Given the description of an element on the screen output the (x, y) to click on. 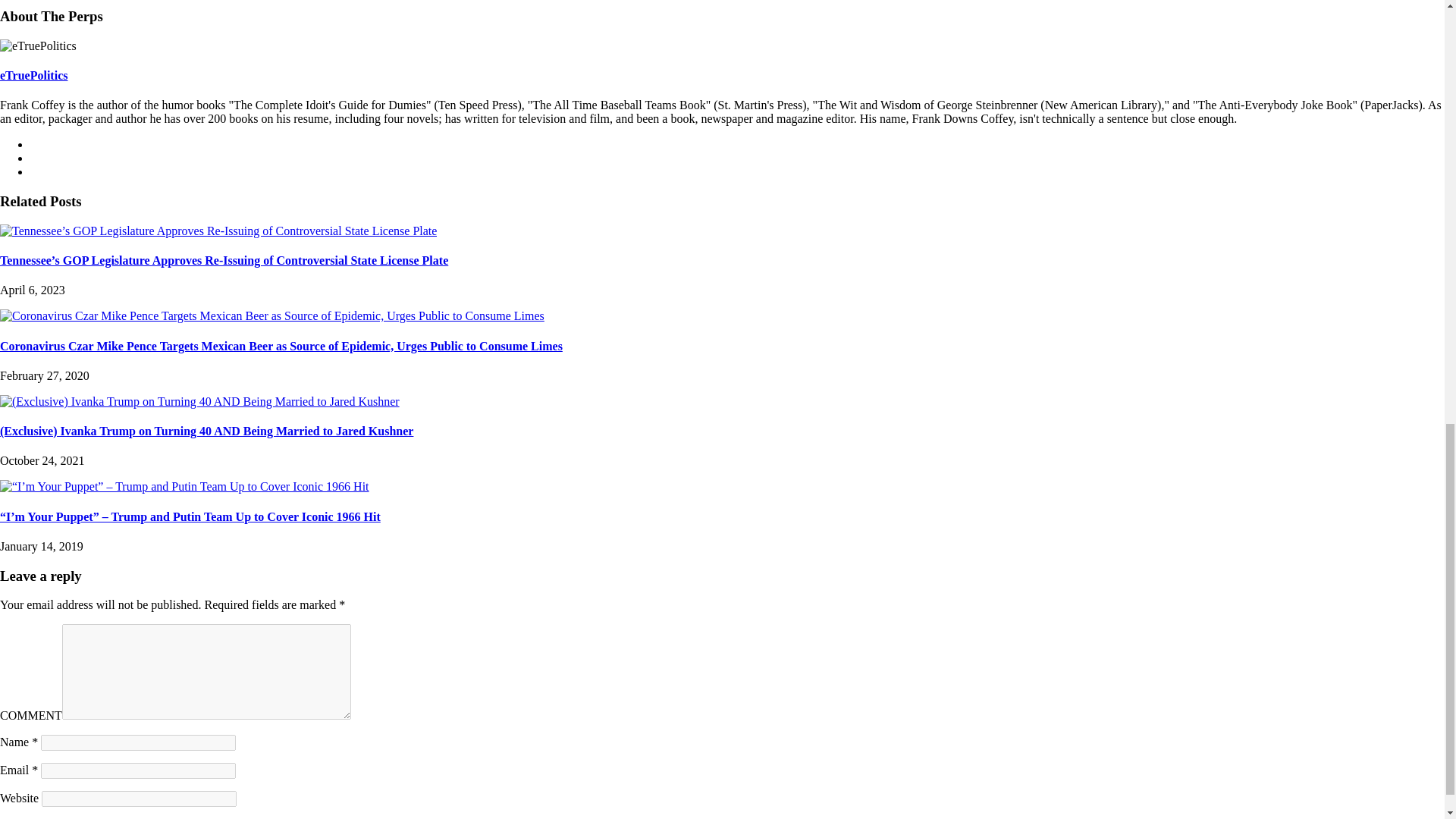
View all posts by eTruePolitics (33, 74)
eTruePolitics (33, 74)
